Given the description of an element on the screen output the (x, y) to click on. 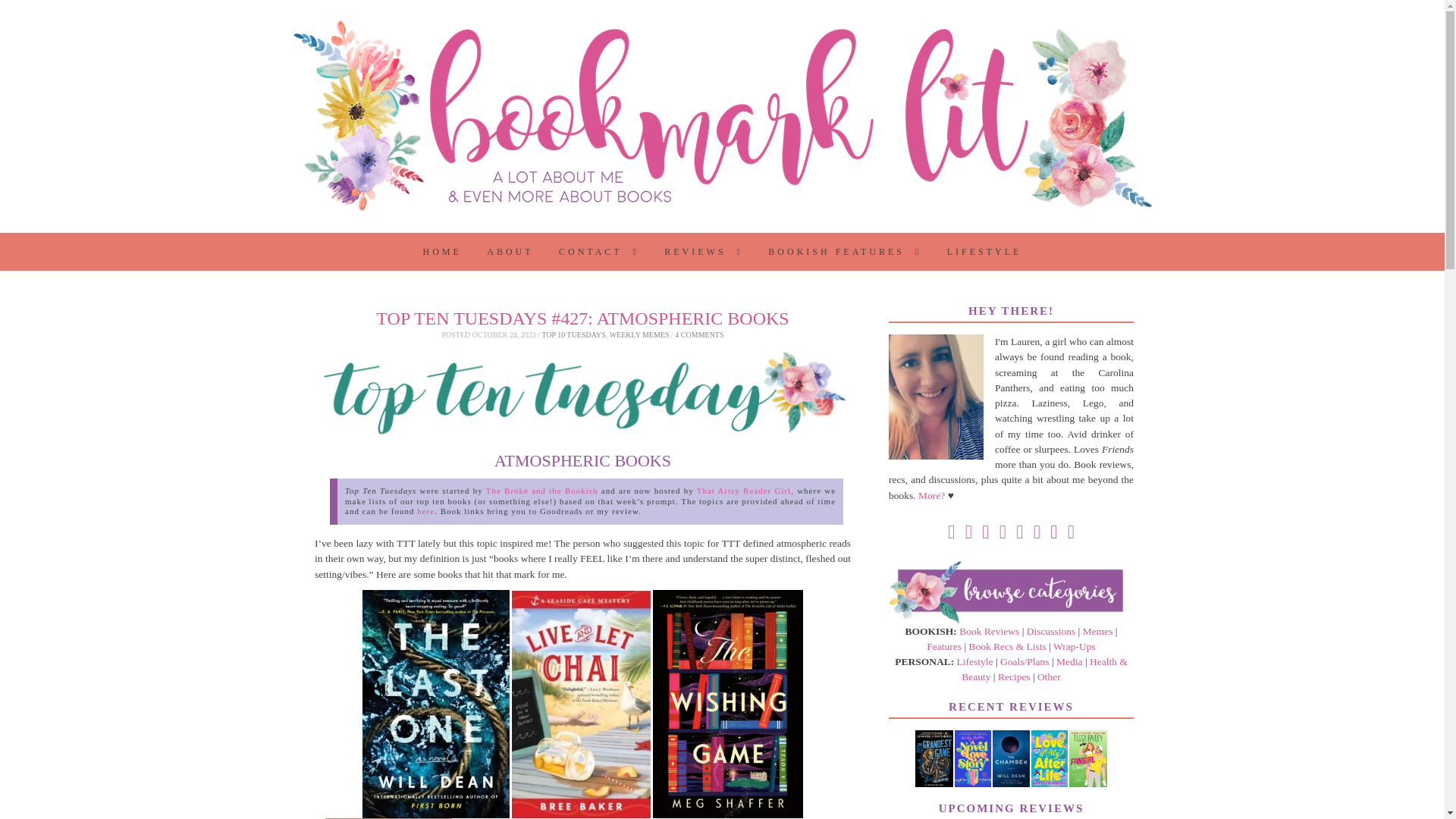
4 COMMENTS (699, 334)
REVIEWS   (703, 251)
BOOKISH FEATURES   (845, 251)
View all posts in Weekly Memes (639, 334)
WEEKLY MEMES (639, 334)
The Broke and the Bookish (542, 490)
TOP 10 TUESDAYS (573, 334)
That Artsy Reader Girl, (745, 490)
LIFESTYLE (984, 251)
ABOUT (510, 251)
